Given the description of an element on the screen output the (x, y) to click on. 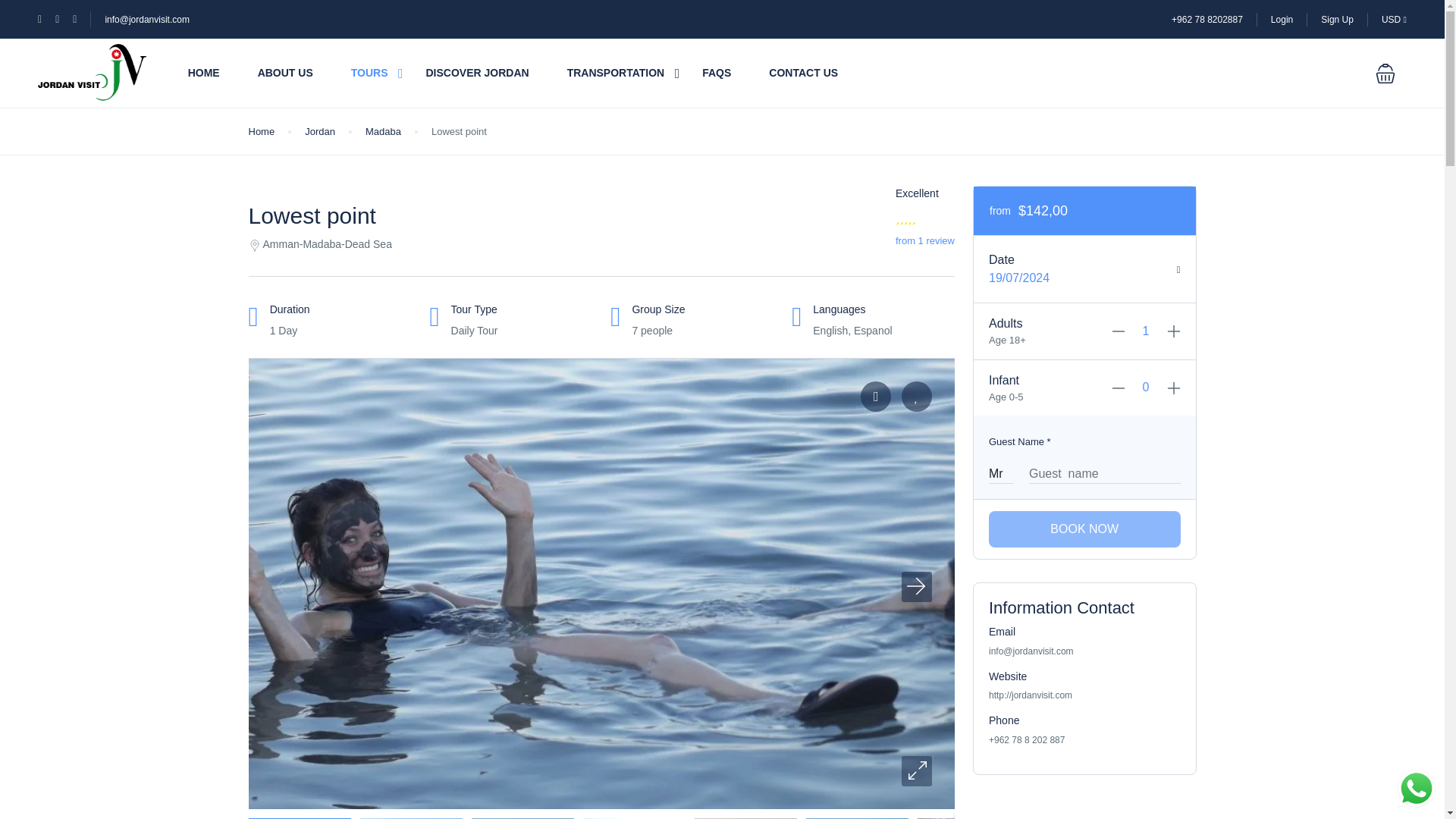
Sign Up (1337, 18)
Jordan (319, 131)
ABOUT US (284, 72)
Chat On WhatsApp (1416, 788)
1 (1145, 330)
HOME (203, 72)
DISCOVER JORDAN (476, 72)
0 (1145, 387)
CONTACT US (803, 72)
TRANSPORTATION (616, 72)
Home (261, 131)
Login (1281, 18)
Madaba (383, 131)
FAQS (715, 72)
USD (1393, 18)
